Given the description of an element on the screen output the (x, y) to click on. 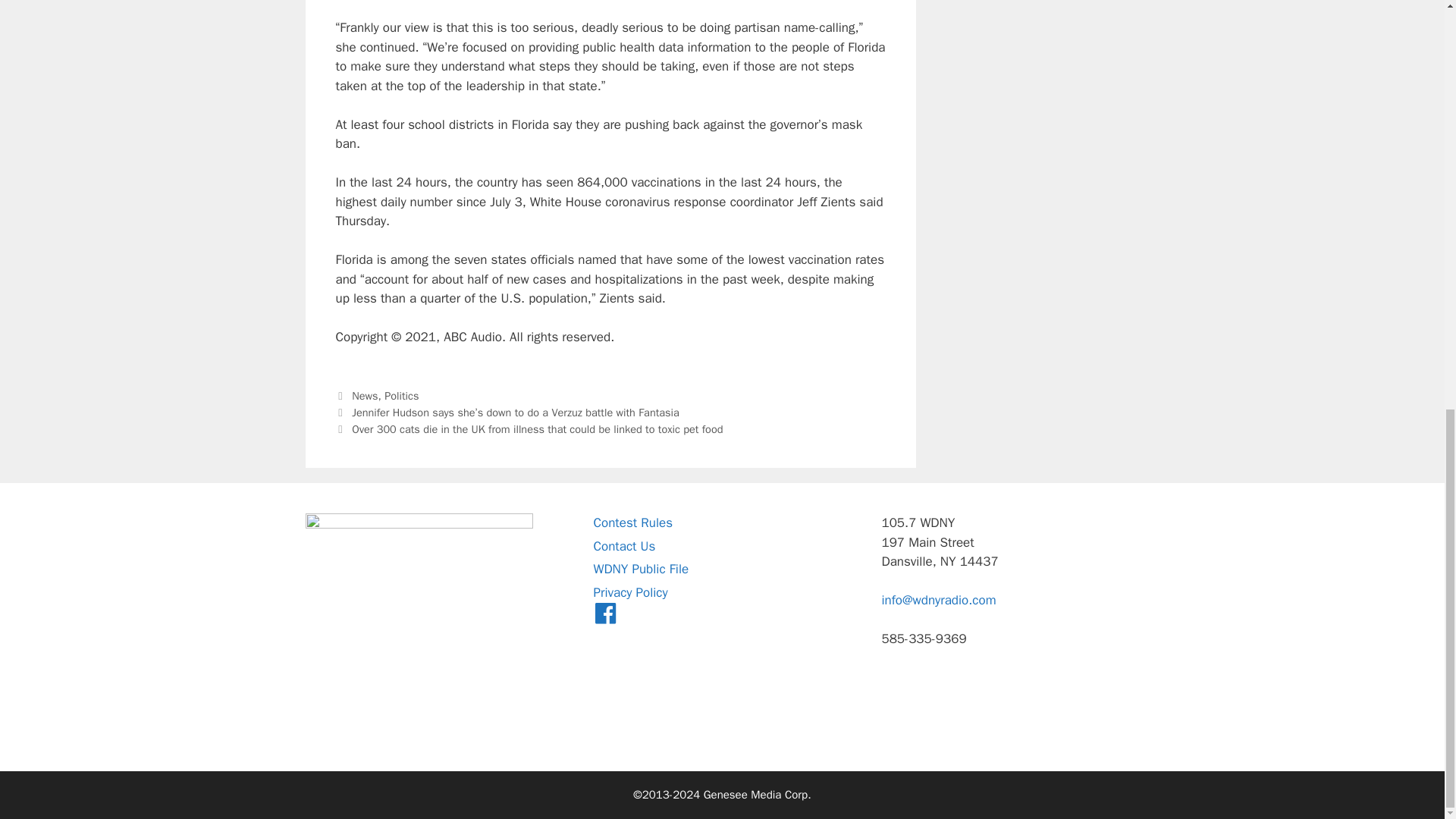
WDNY Public File (640, 569)
News (364, 395)
Privacy Policy (629, 592)
Politics (401, 395)
Menu Item (605, 615)
Contest Rules (632, 522)
Contact Us (623, 546)
